Given the description of an element on the screen output the (x, y) to click on. 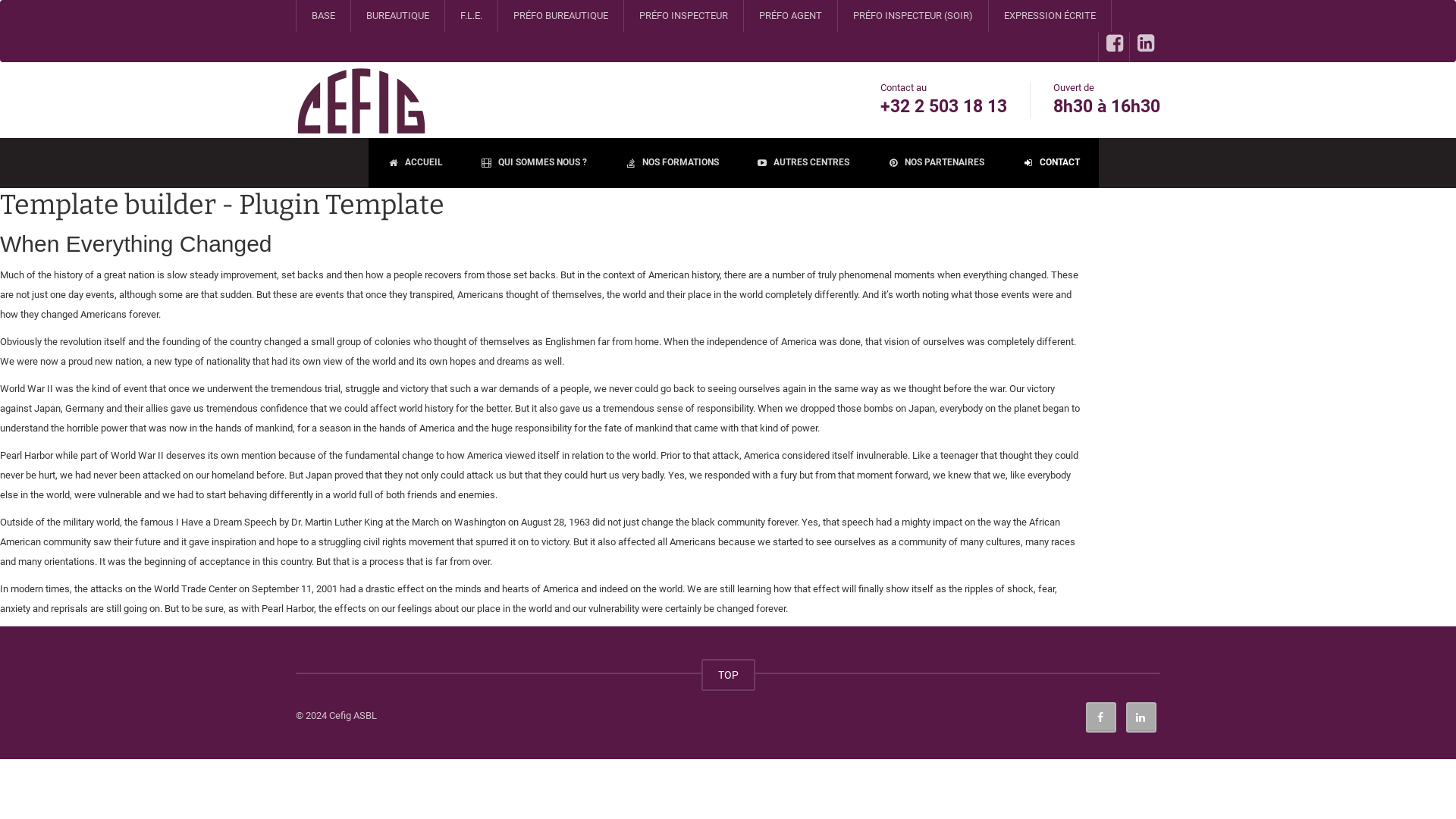
TOP Element type: text (727, 674)
NOS PARTENAIRES Element type: text (935, 163)
NOS FORMATIONS Element type: text (671, 163)
AUTRES CENTRES Element type: text (802, 163)
CONTACT Element type: text (1050, 163)
When Everything Changed | CEFIG Element type: hover (360, 99)
QUI SOMMES NOUS ? Element type: text (533, 163)
F.L.E. Element type: text (470, 15)
BUREAUTIQUE Element type: text (397, 15)
BASE Element type: text (322, 15)
ACCUEIL Element type: text (414, 163)
